Given the description of an element on the screen output the (x, y) to click on. 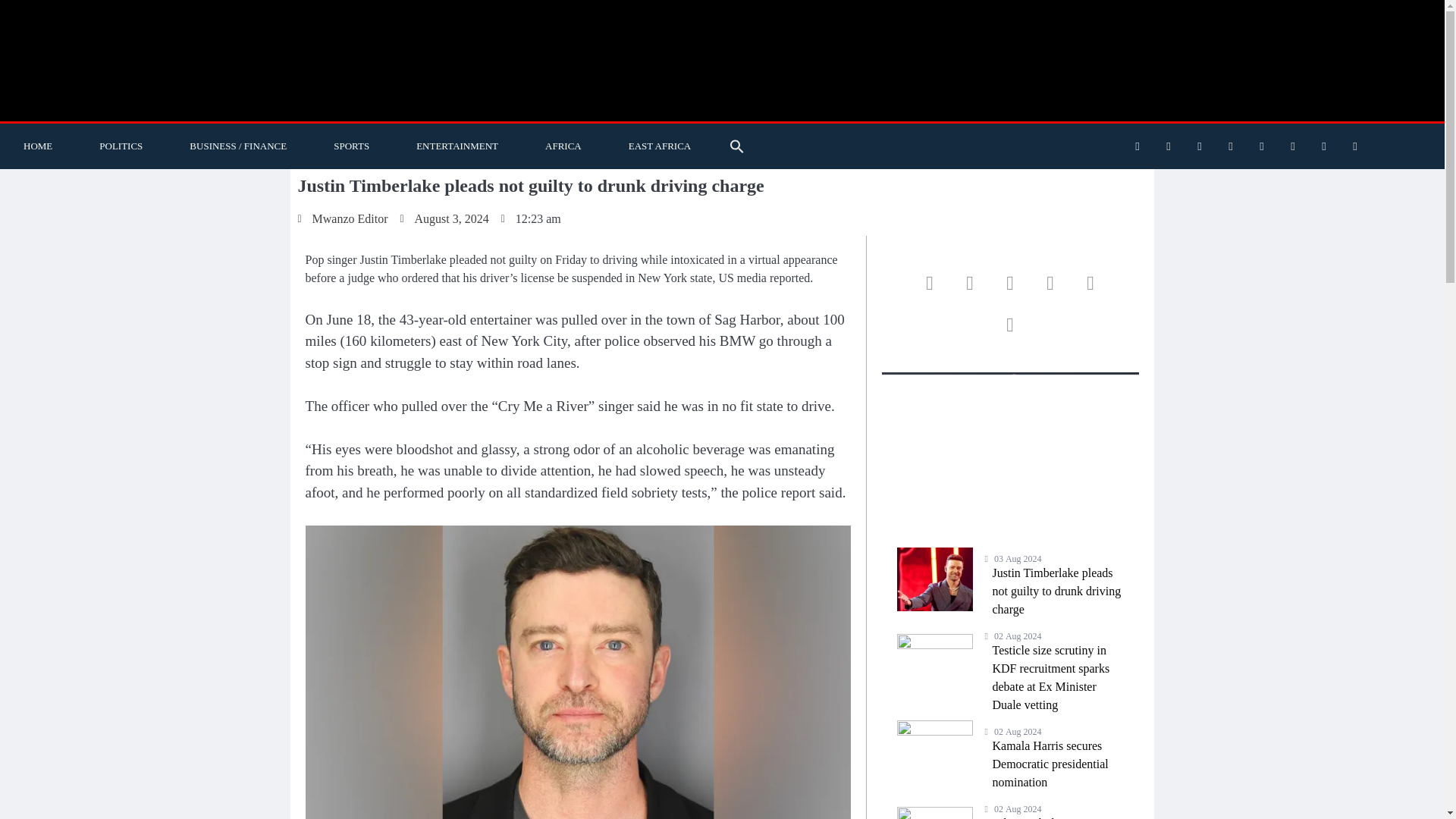
ENTERTAINMENT (457, 145)
HOME (37, 145)
EAST AFRICA (659, 145)
August 3, 2024 (442, 218)
POLITICS (120, 145)
AFRICA (563, 145)
SPORTS (351, 145)
Mwanzo Editor (342, 218)
